Given the description of an element on the screen output the (x, y) to click on. 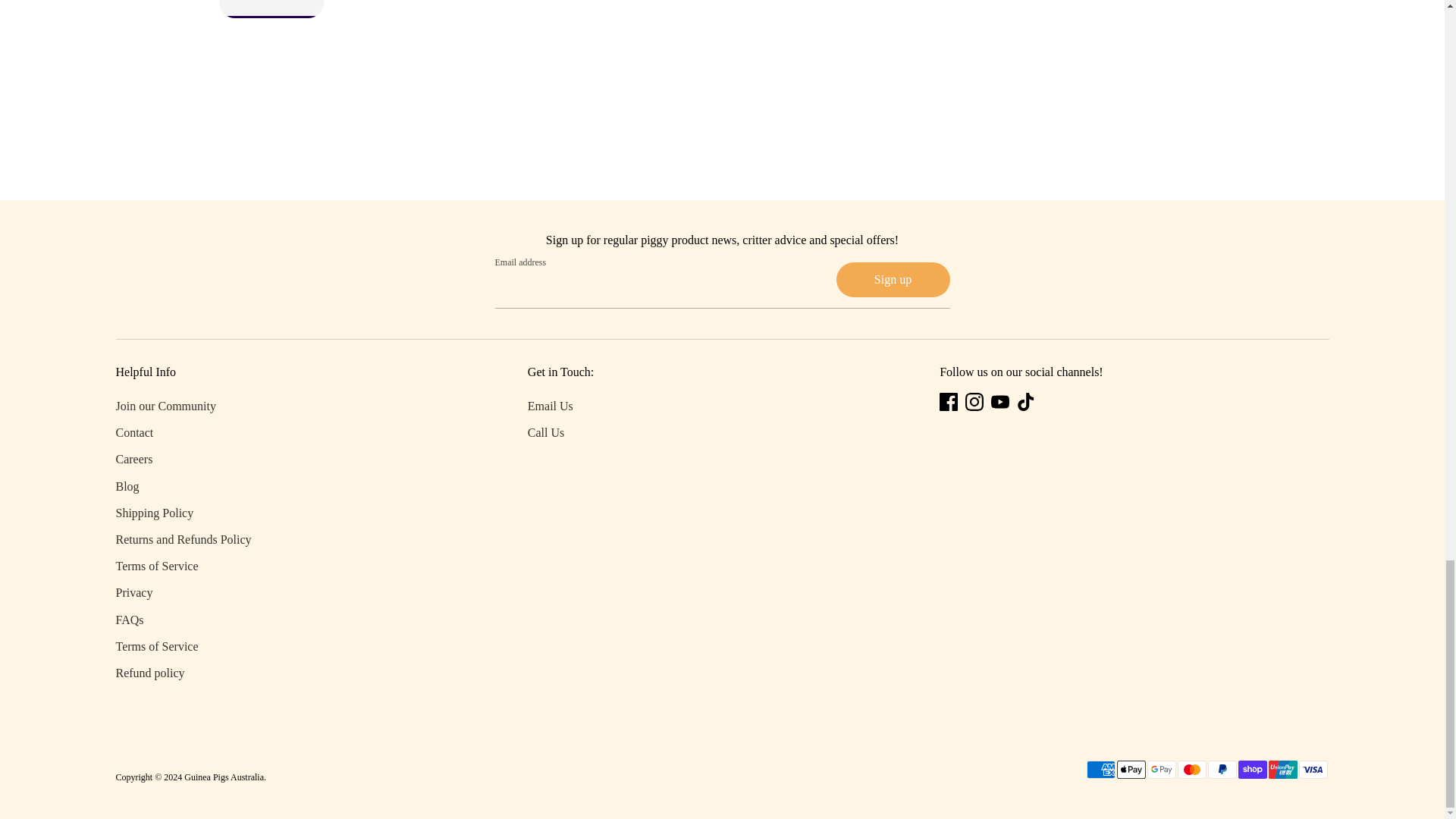
Apple Pay (1130, 769)
Google Pay (1160, 769)
American Express (1100, 769)
